Given the description of an element on the screen output the (x, y) to click on. 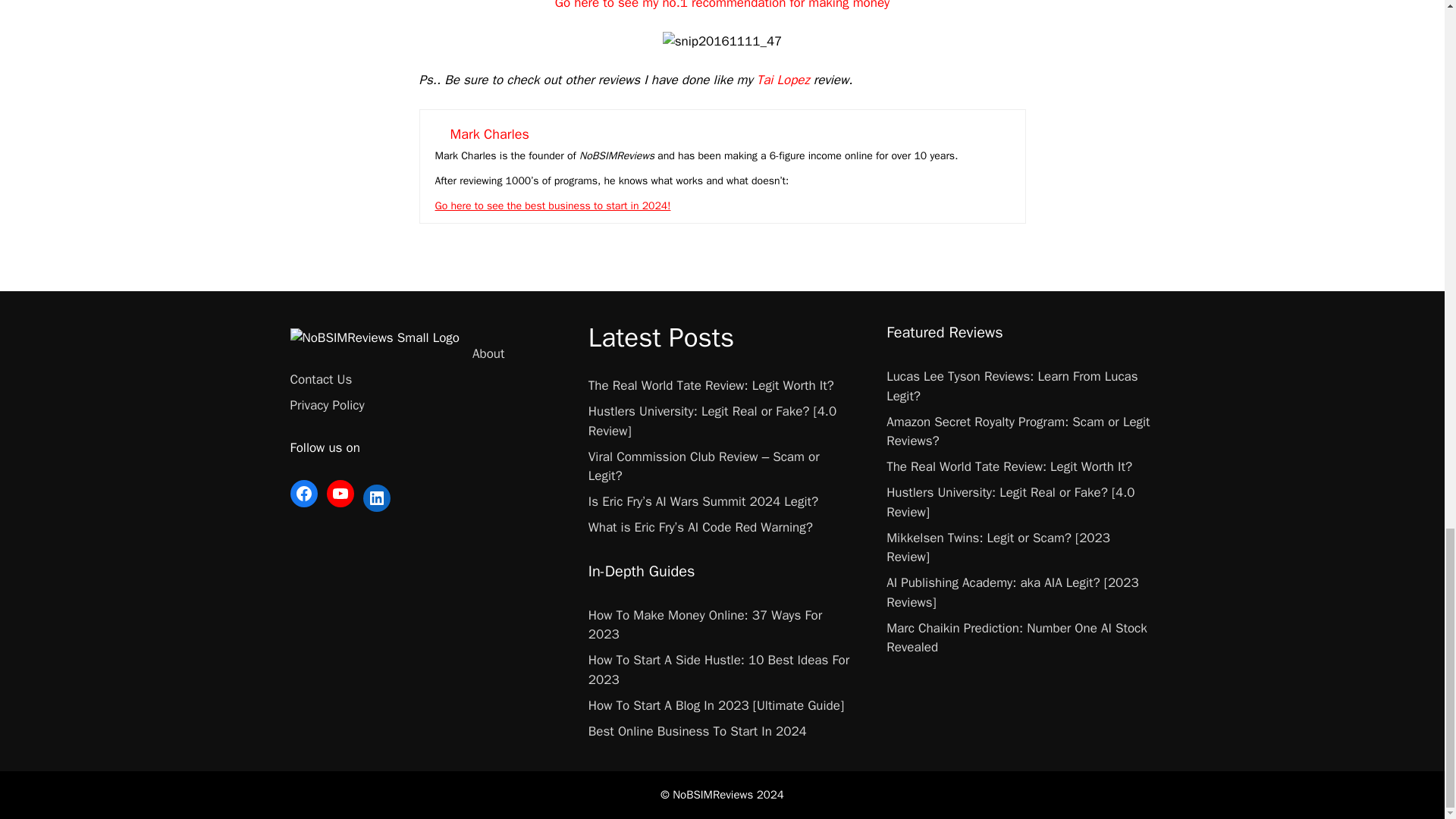
YouTube (339, 492)
Contact Us (320, 379)
Go here to see the best business to start in 2024! (553, 205)
How To Start A Side Hustle: 10 Best Ideas For 2023 (718, 669)
Facebook (303, 492)
LinkedIn (376, 497)
Tai Lopez (783, 79)
How To Make Money Online: 37 Ways For 2023 (705, 624)
Go here to see my no.1 recommendation for making money (721, 5)
Mark Charles (489, 134)
